Given the description of an element on the screen output the (x, y) to click on. 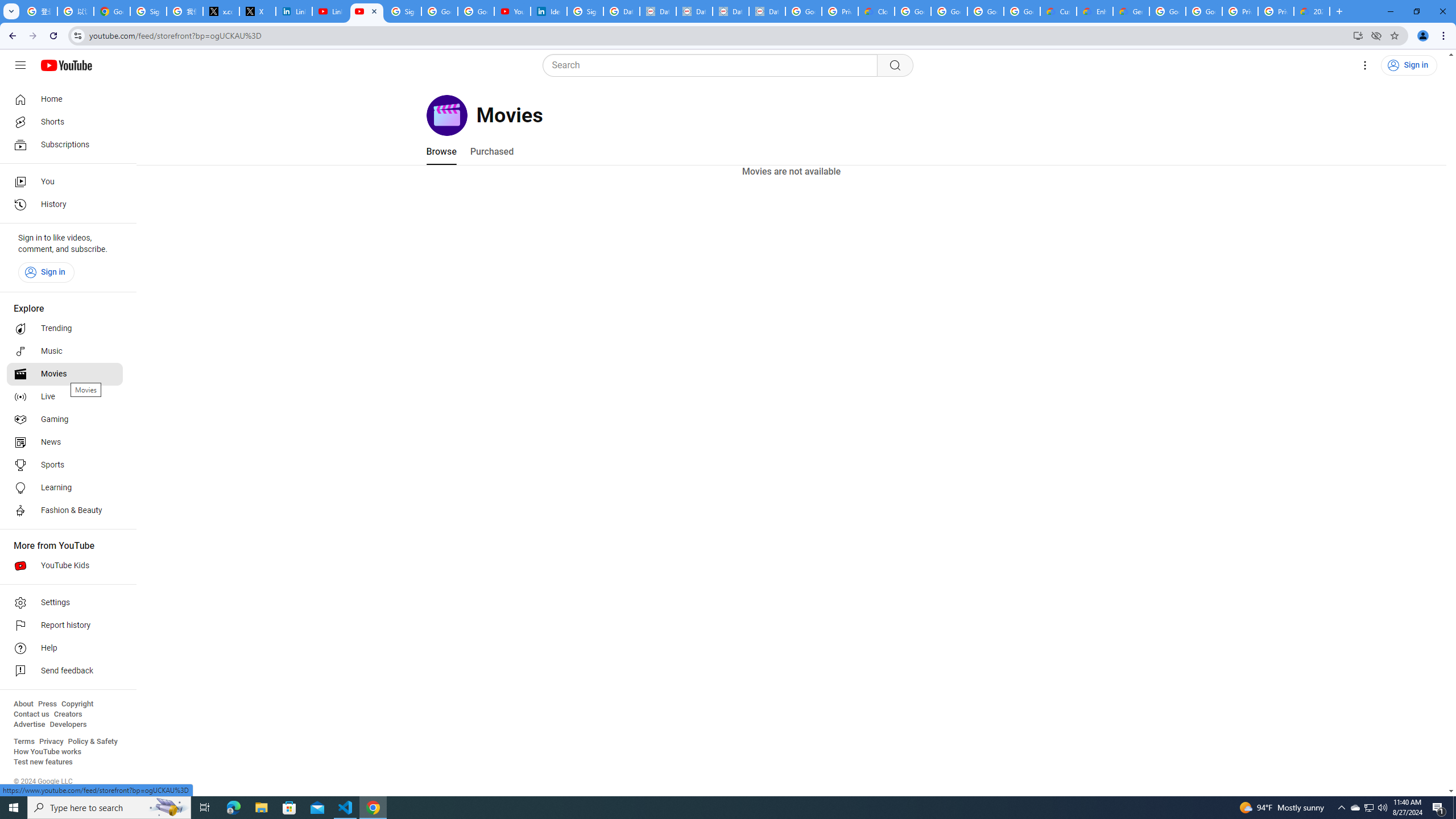
Data Privacy Framework (657, 11)
Sign in - Google Accounts (148, 11)
Install YouTube (1358, 35)
Data Privacy Framework (730, 11)
Customer Care | Google Cloud (1058, 11)
Google Cloud Platform (1167, 11)
About (23, 703)
LinkedIn Privacy Policy (293, 11)
YouTube (366, 11)
